Given the description of an element on the screen output the (x, y) to click on. 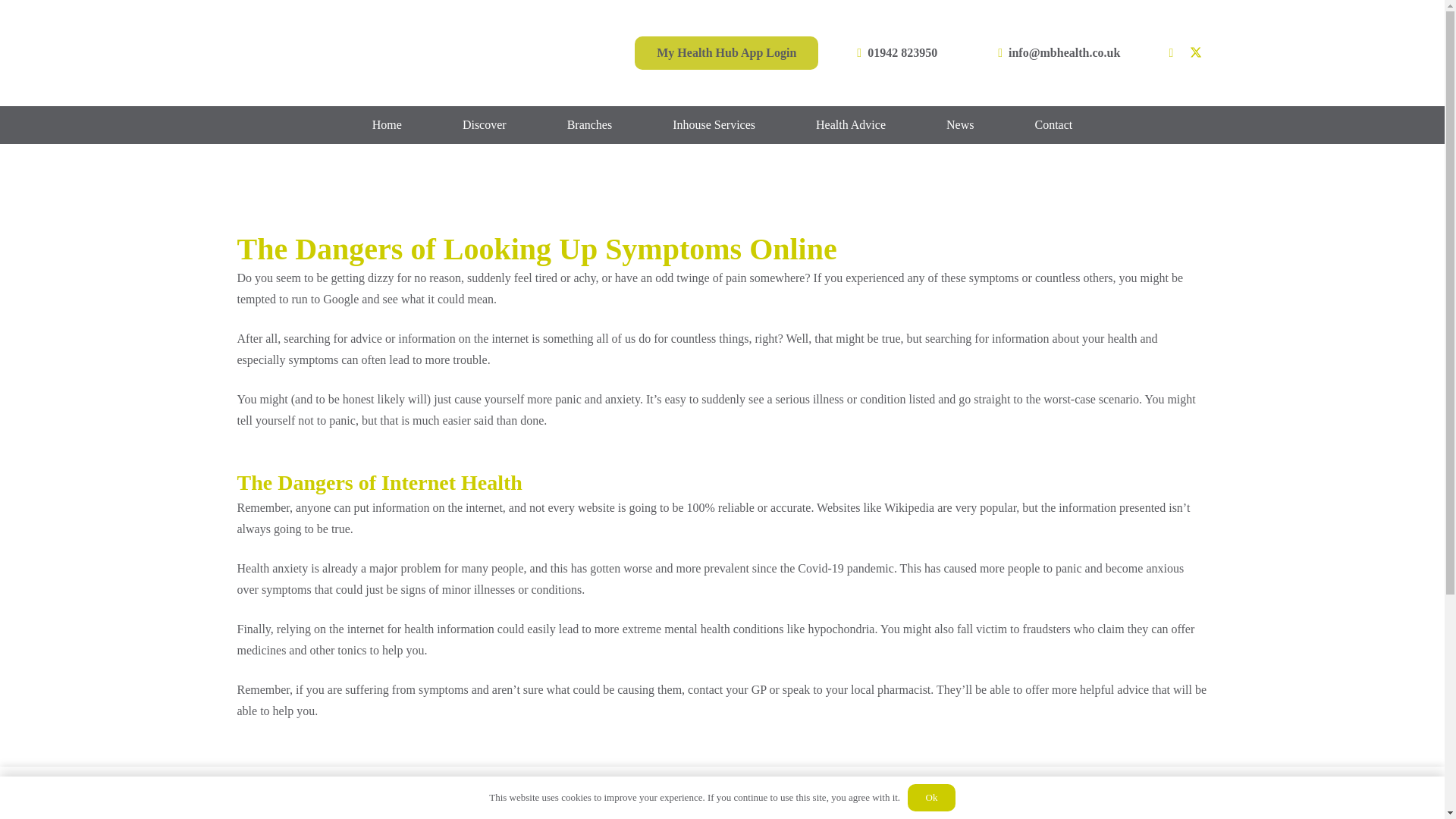
Inhouse Services (714, 125)
Health Advice (850, 125)
Home (387, 125)
01942 823950 (897, 53)
My Health Hub App Login (726, 53)
Facebook (1170, 52)
Twitter (1195, 52)
Discover (484, 125)
Branches (590, 125)
